Given the description of an element on the screen output the (x, y) to click on. 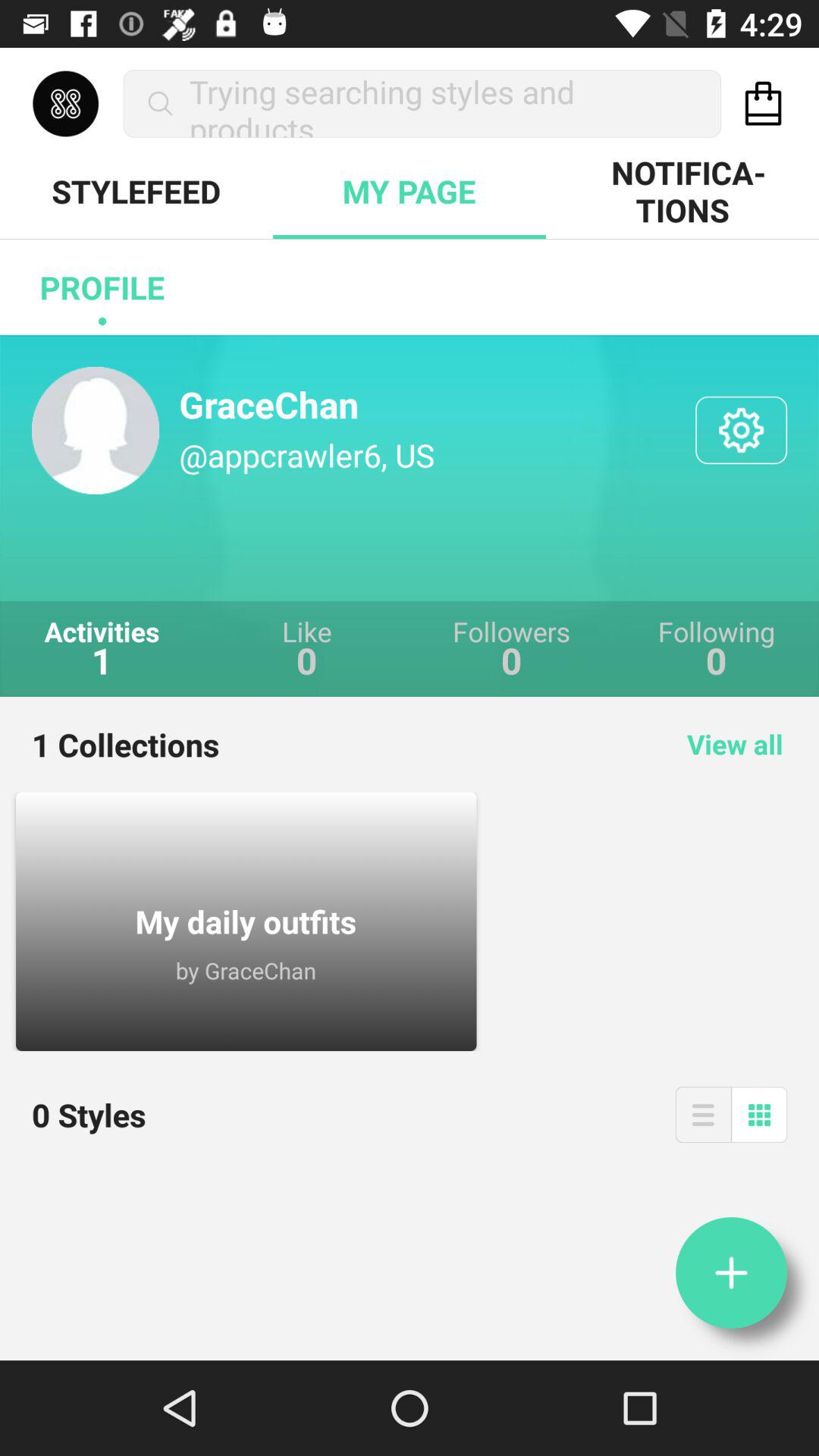
search styles and products (763, 103)
